Given the description of an element on the screen output the (x, y) to click on. 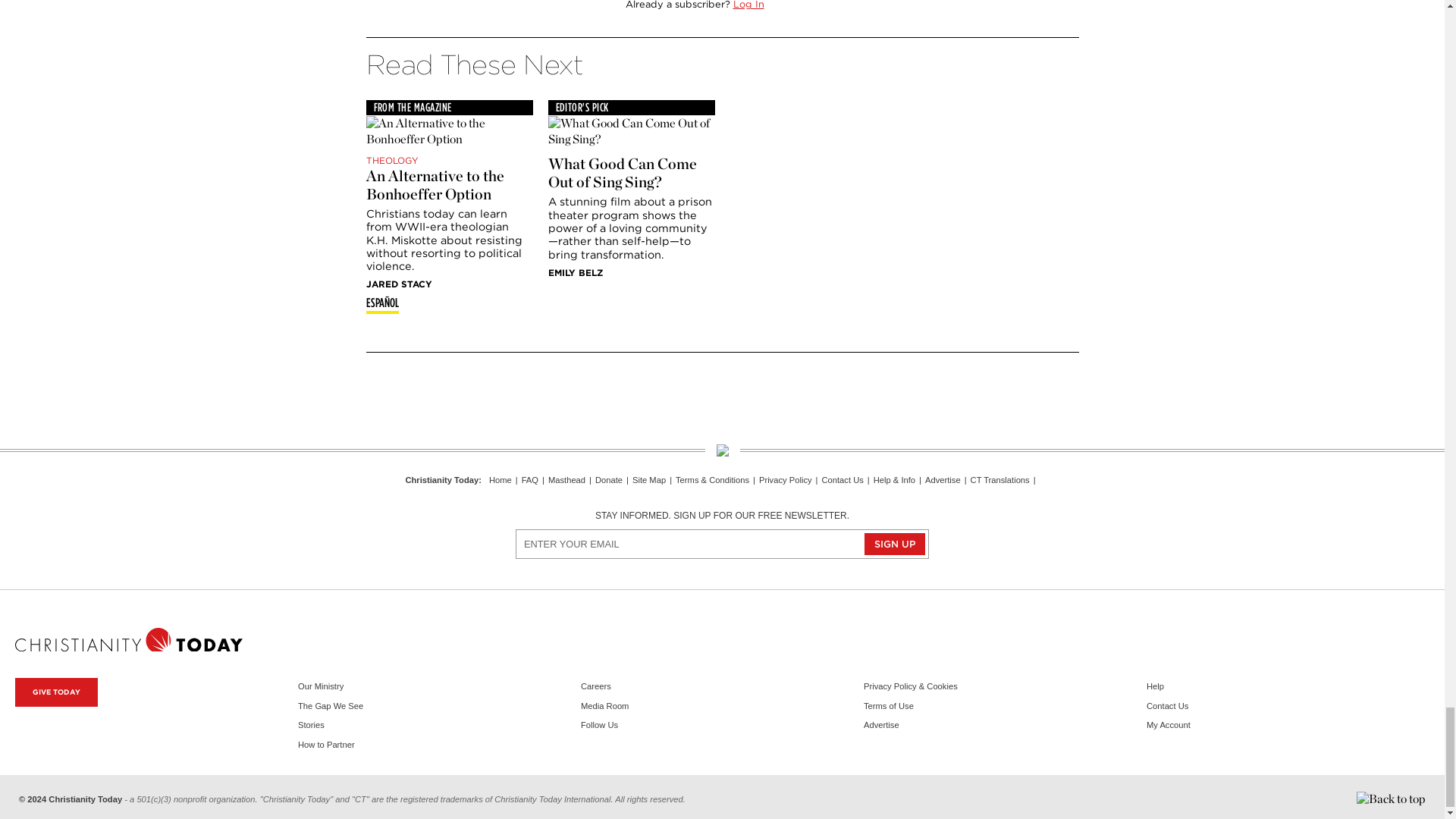
Sign Up (894, 544)
